Given the description of an element on the screen output the (x, y) to click on. 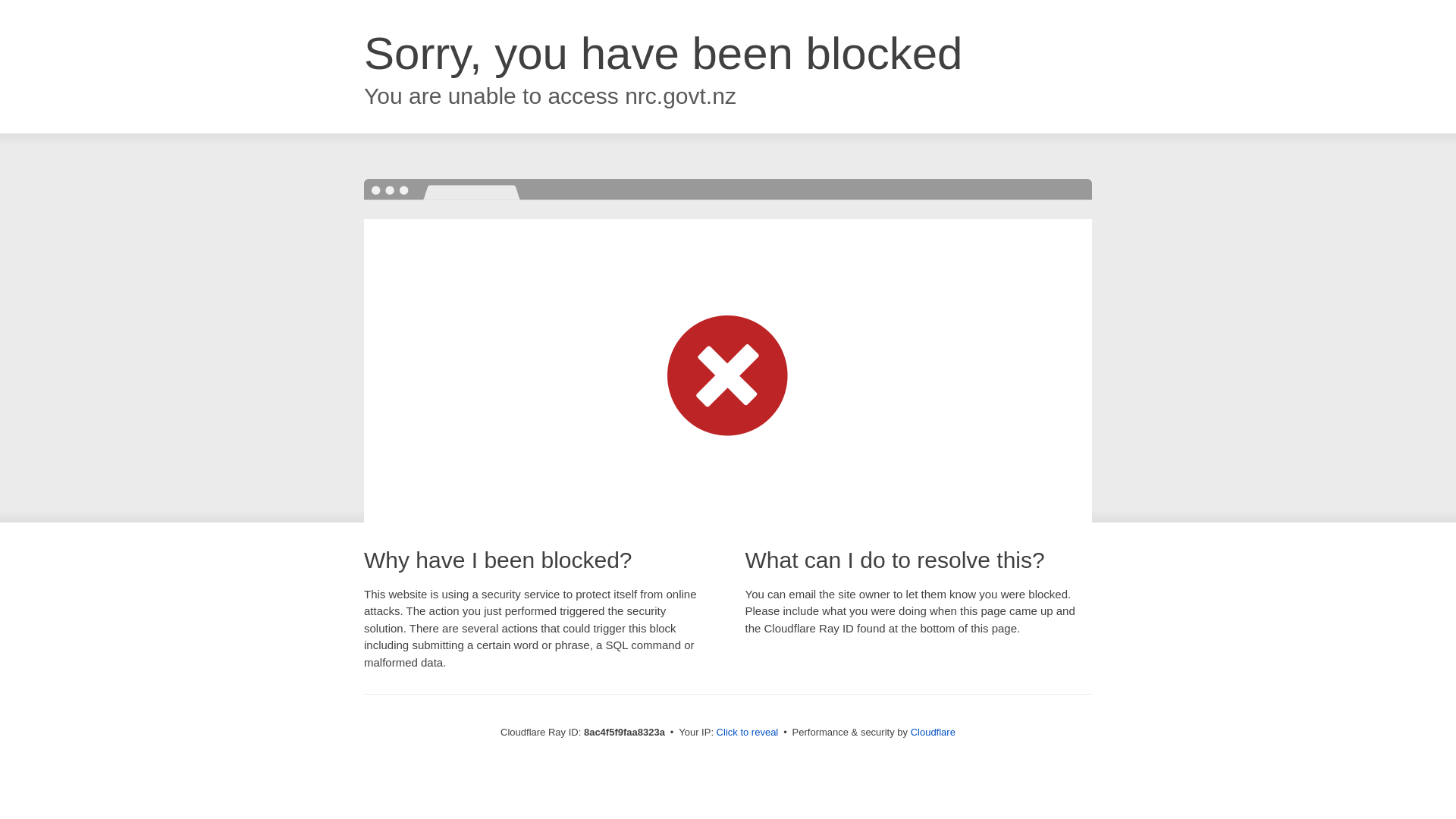
Click to reveal (747, 732)
Cloudflare (933, 731)
